Given the description of an element on the screen output the (x, y) to click on. 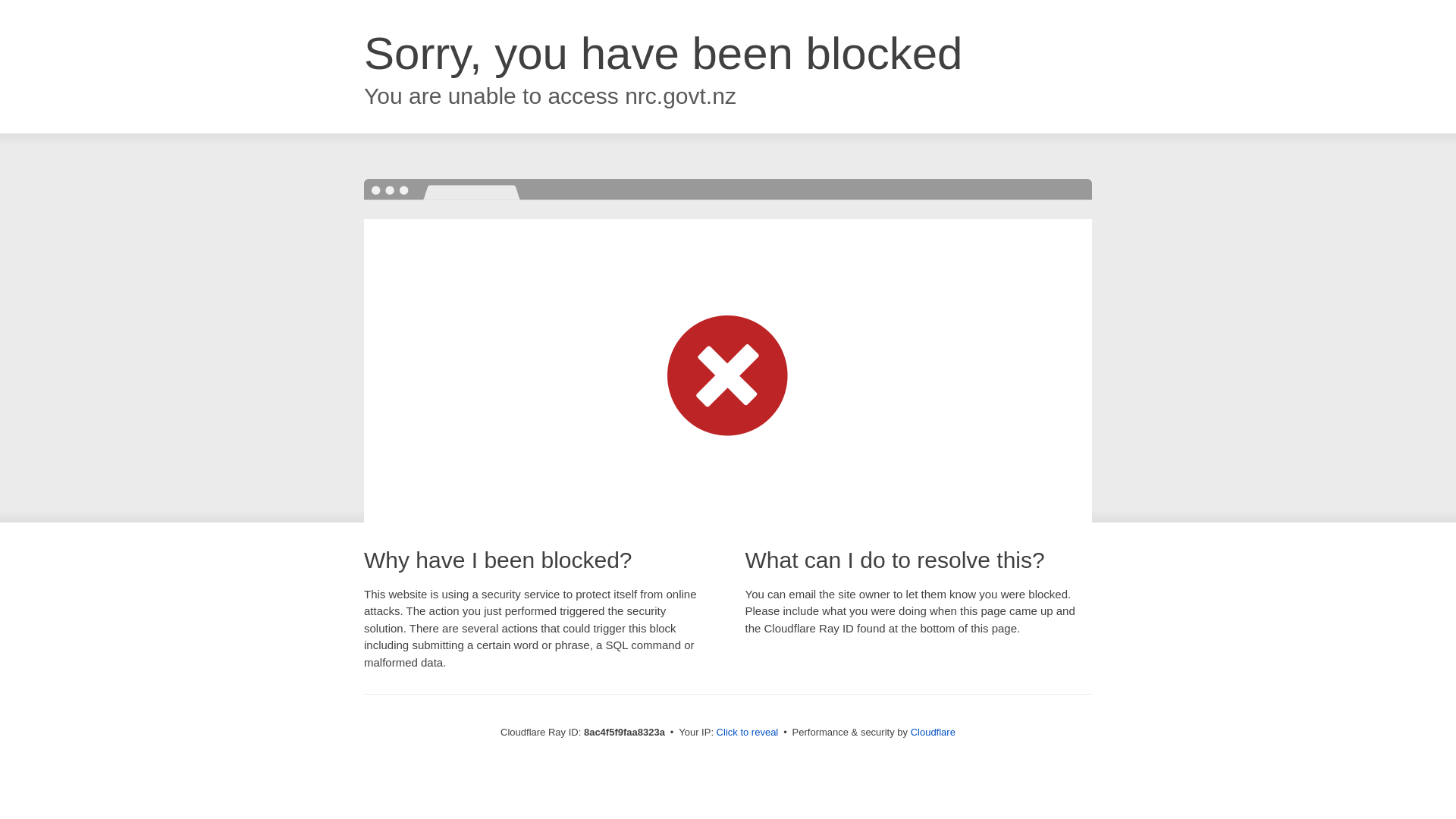
Click to reveal (747, 732)
Cloudflare (933, 731)
